Given the description of an element on the screen output the (x, y) to click on. 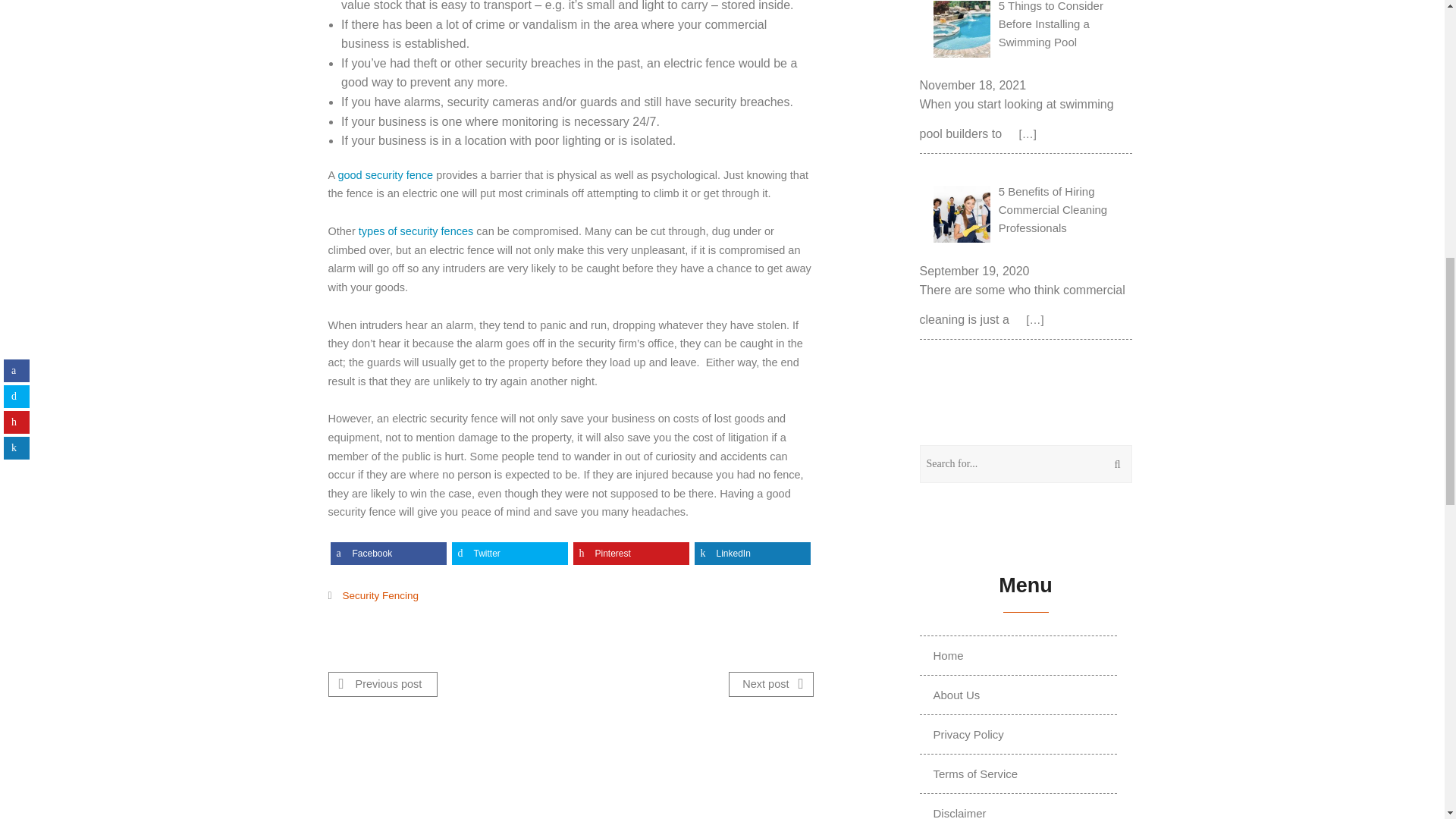
good security fence (384, 174)
Pinterest (630, 553)
LinkedIn (752, 553)
Home (948, 655)
Previous post (382, 683)
Twitter (509, 553)
Next post (770, 683)
Search for... (1026, 464)
Security Fencing (380, 595)
5 Things to Consider Before Installing a Swimming Pool (1026, 38)
5 Benefits of Hiring Commercial Cleaning Professionals (1026, 216)
Privacy Policy (968, 733)
Search for... (1026, 464)
types of security fences (416, 231)
Terms of Service (976, 773)
